Given the description of an element on the screen output the (x, y) to click on. 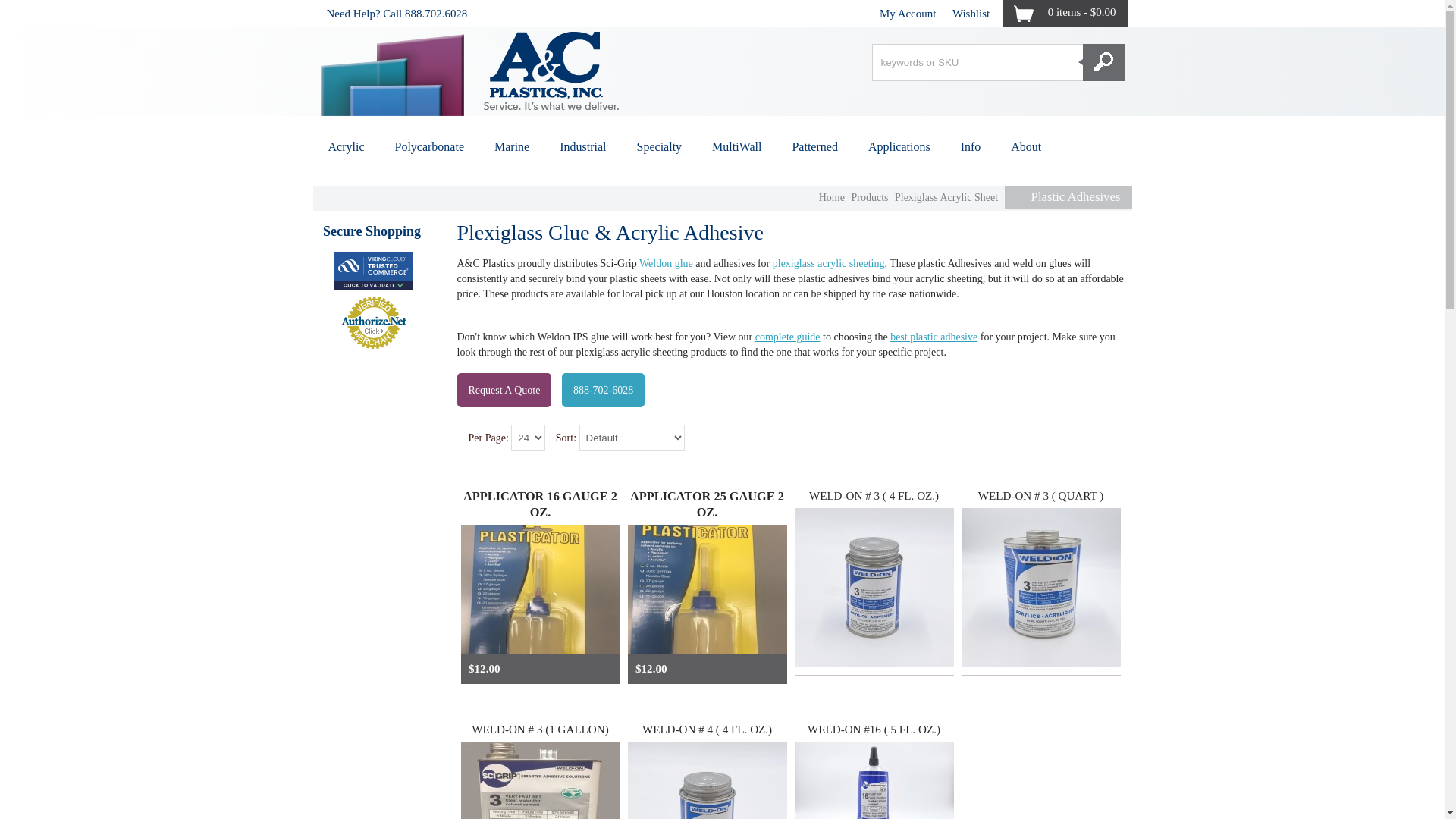
plastic applications (898, 146)
Polycarbonate (428, 146)
multiwall polycarbonate sheet (736, 146)
888.702.6028 (435, 13)
Info (889, 11)
Browse (897, 11)
Wishlist (970, 14)
patterned plastic sheet (813, 146)
Info (889, 11)
Plexiglass Acrylic (826, 263)
Browse (897, 11)
Weldon Glue for Sale (666, 263)
plexiglass and acrylic sheets (345, 146)
Acrylic (345, 146)
polycarbonate sheet (428, 146)
